Given the description of an element on the screen output the (x, y) to click on. 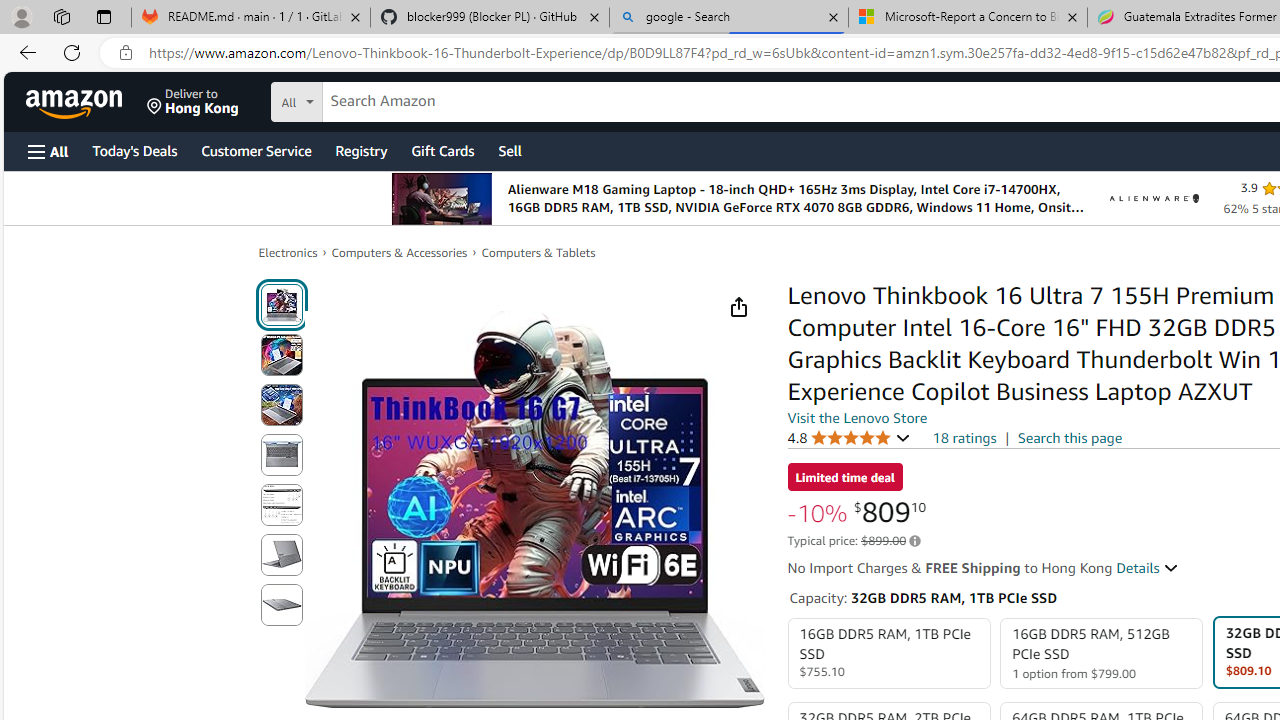
Skip to main content (86, 100)
Computers & Tablets (538, 251)
Details  (1148, 568)
Customer Service (256, 150)
16GB DDR5 RAM, 512GB PCIe SSD 1 option from $799.00 (1101, 653)
